Given the description of an element on the screen output the (x, y) to click on. 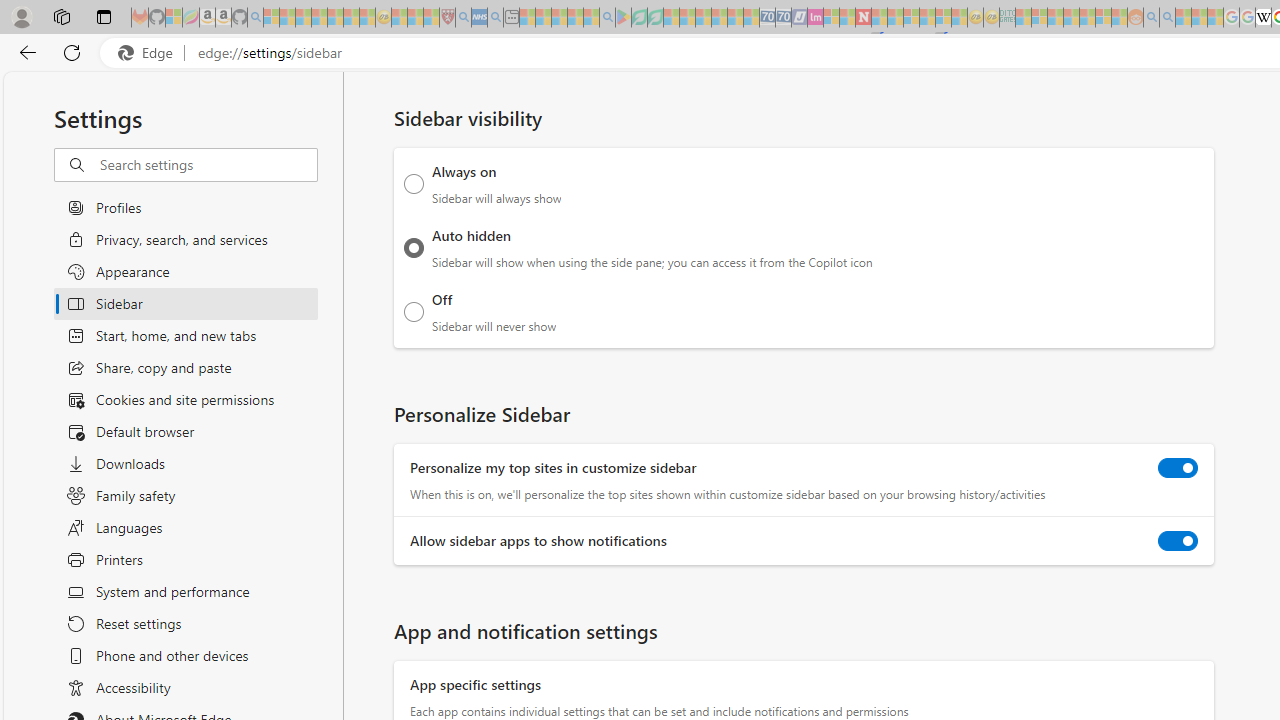
Latest Politics News & Archive | Newsweek.com - Sleeping (863, 17)
google - Search - Sleeping (607, 17)
Off Sidebar will never show (413, 311)
Allow sidebar apps to show notifications (1178, 540)
Utah sues federal government - Search - Sleeping (1167, 17)
